Given the description of an element on the screen output the (x, y) to click on. 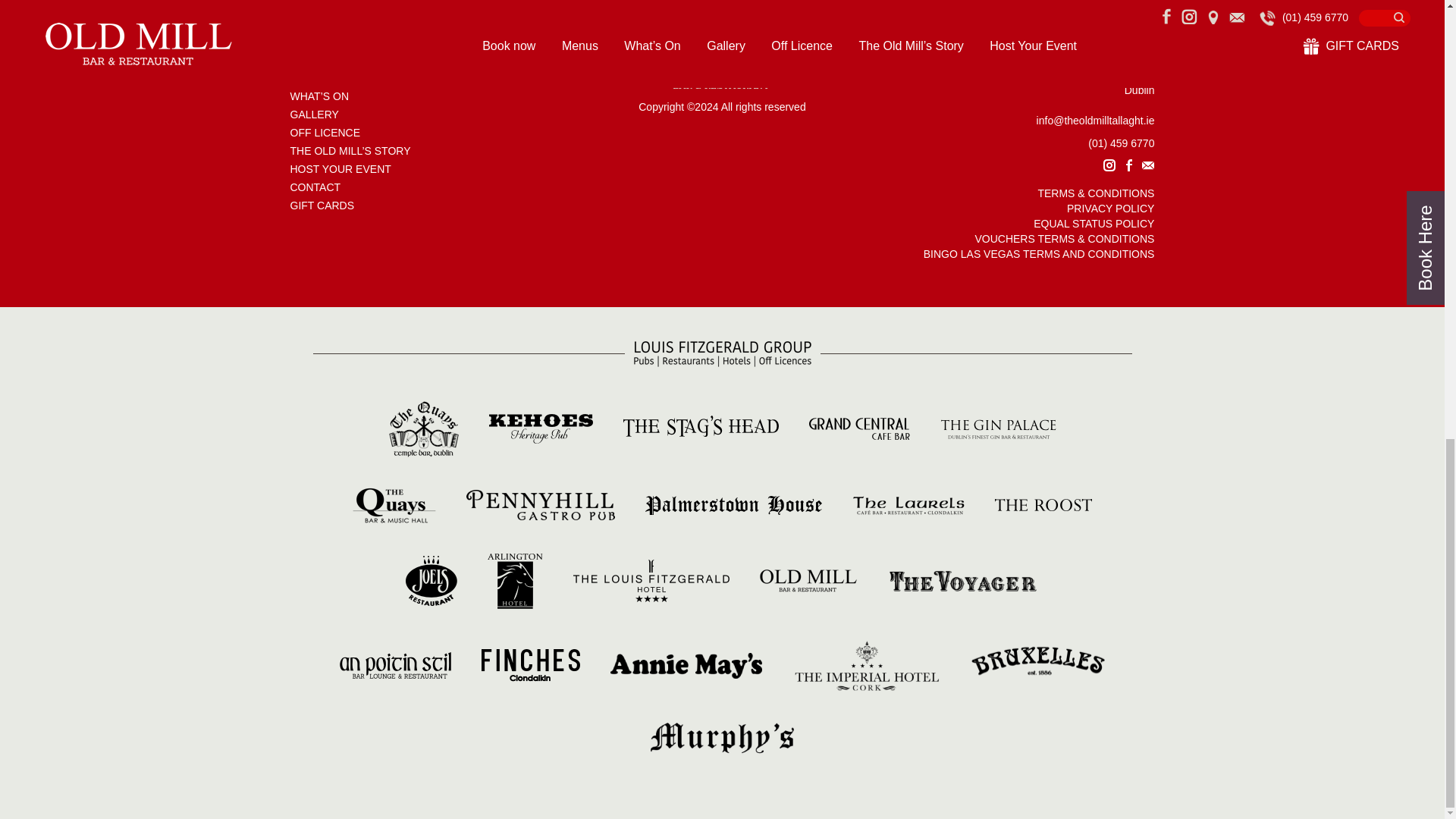
Follow us on Instagram (1109, 164)
The Quays, Temple Bar (423, 428)
The Voyager, Dame Street (962, 580)
Arlington Hotel, Bachelors Walk (515, 580)
HOST YOUR EVENT (339, 168)
The Laurels, Clondalkin (907, 503)
The Roost, Maynooth (1043, 503)
Pennyhill Gastro Pub, Lucan (539, 503)
The Gin Palace, Middle Abbey Street (998, 428)
CONTACT (314, 186)
Kehoe's Heritage Pub, South Ann Street (539, 428)
GALLERY (313, 114)
BOOK NOW (319, 60)
Palmerstown House (733, 503)
GIFT CARDS (321, 205)
